Given the description of an element on the screen output the (x, y) to click on. 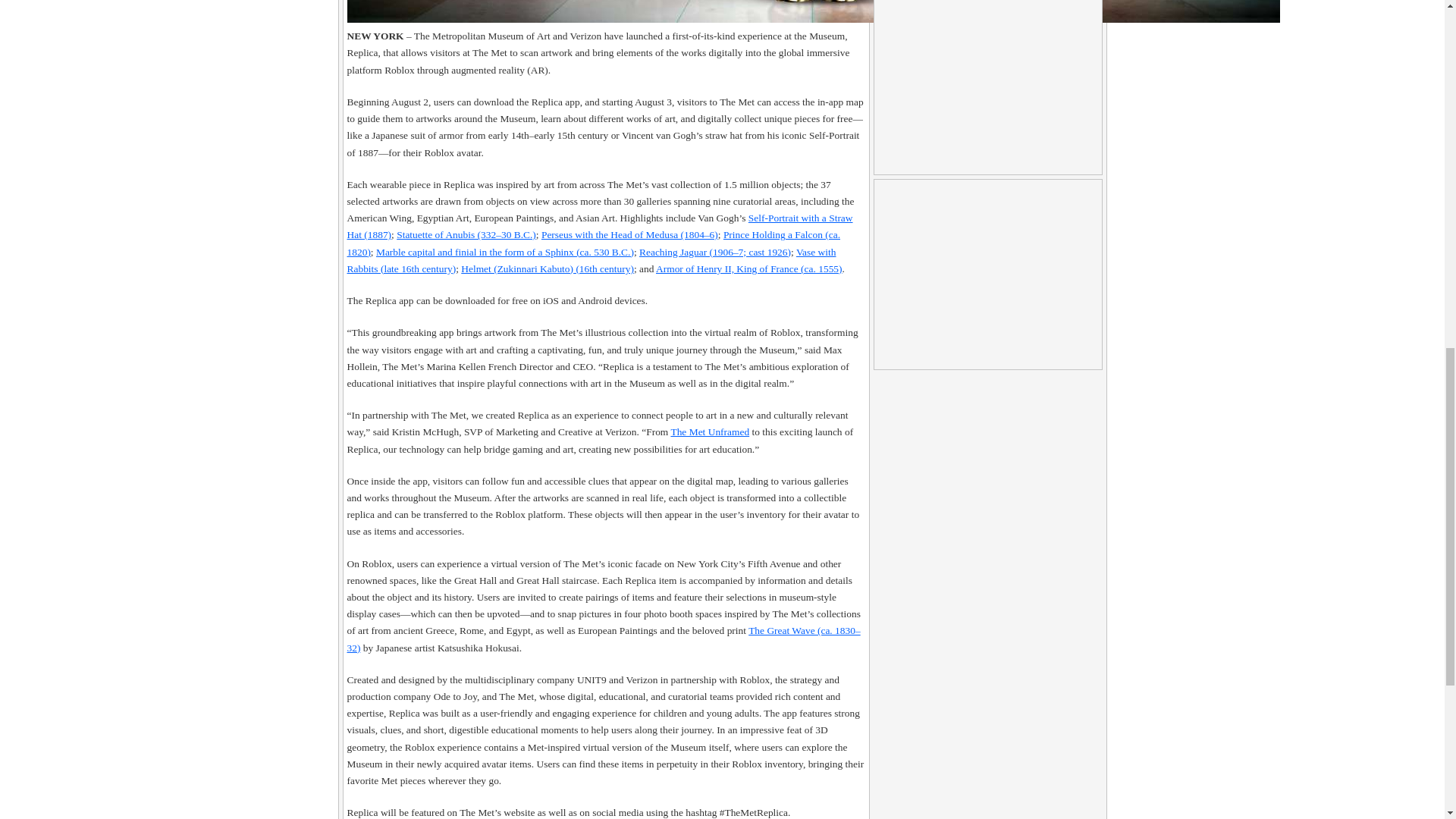
The Met Unframed (709, 431)
Learn more about The Met Unframed (709, 431)
